Given the description of an element on the screen output the (x, y) to click on. 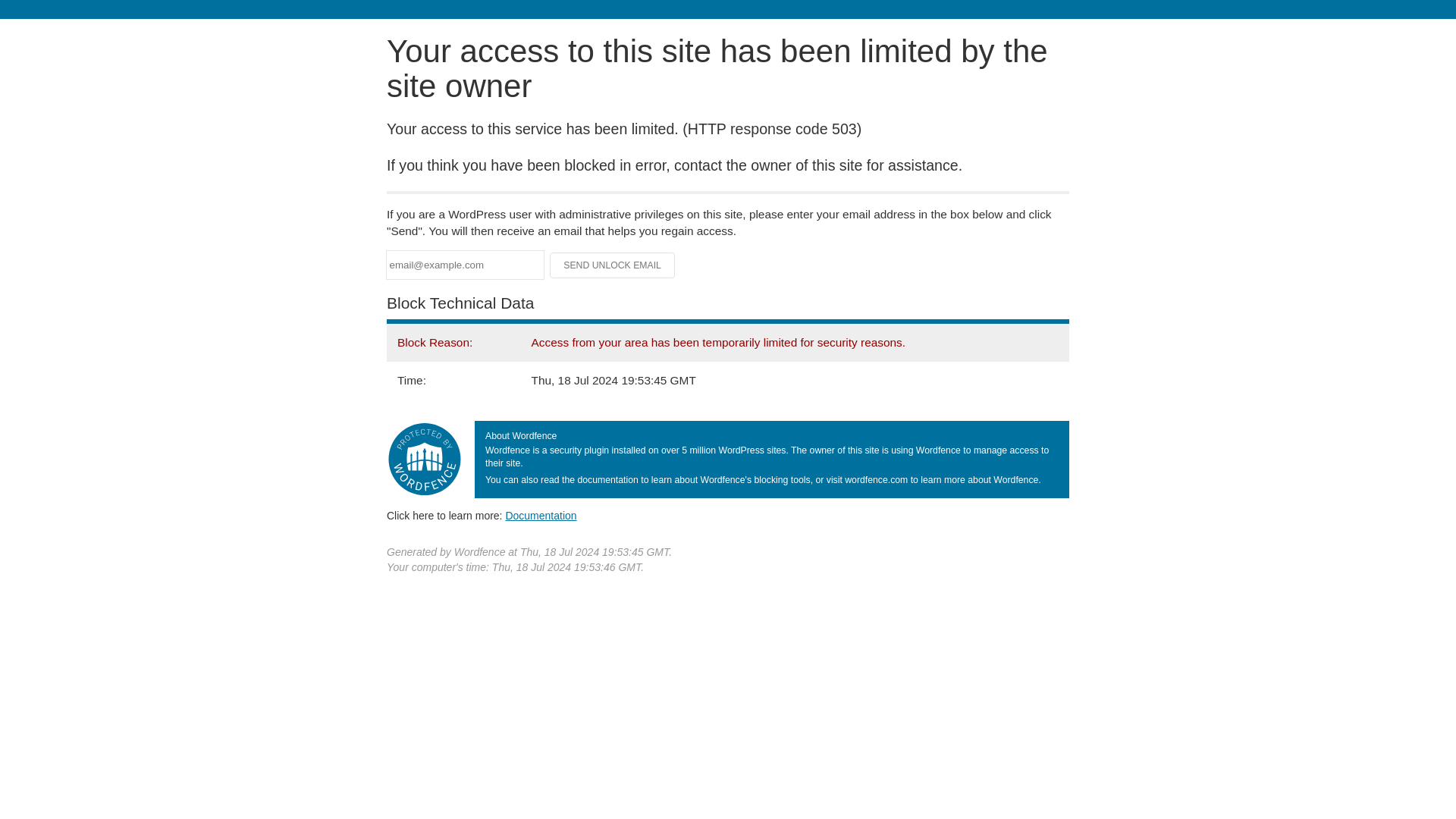
Send Unlock Email (612, 265)
Send Unlock Email (612, 265)
Documentation (540, 515)
